Given the description of an element on the screen output the (x, y) to click on. 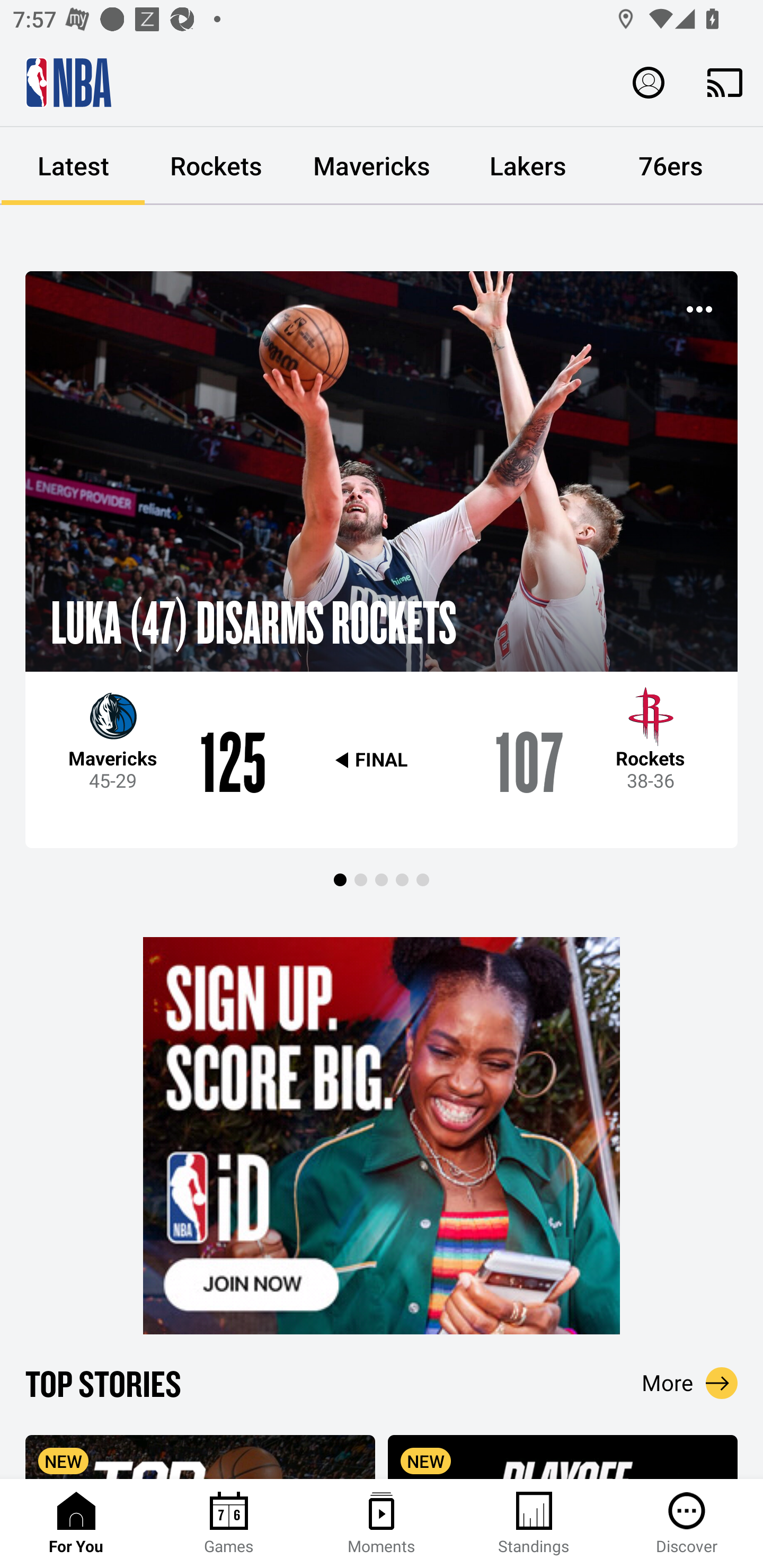
Cast. Disconnected (724, 82)
Profile (648, 81)
Rockets (215, 166)
Mavericks (371, 166)
Lakers (527, 166)
76ers (670, 166)
More (689, 1382)
Games (228, 1523)
Moments (381, 1523)
Standings (533, 1523)
Discover (686, 1523)
